Given the description of an element on the screen output the (x, y) to click on. 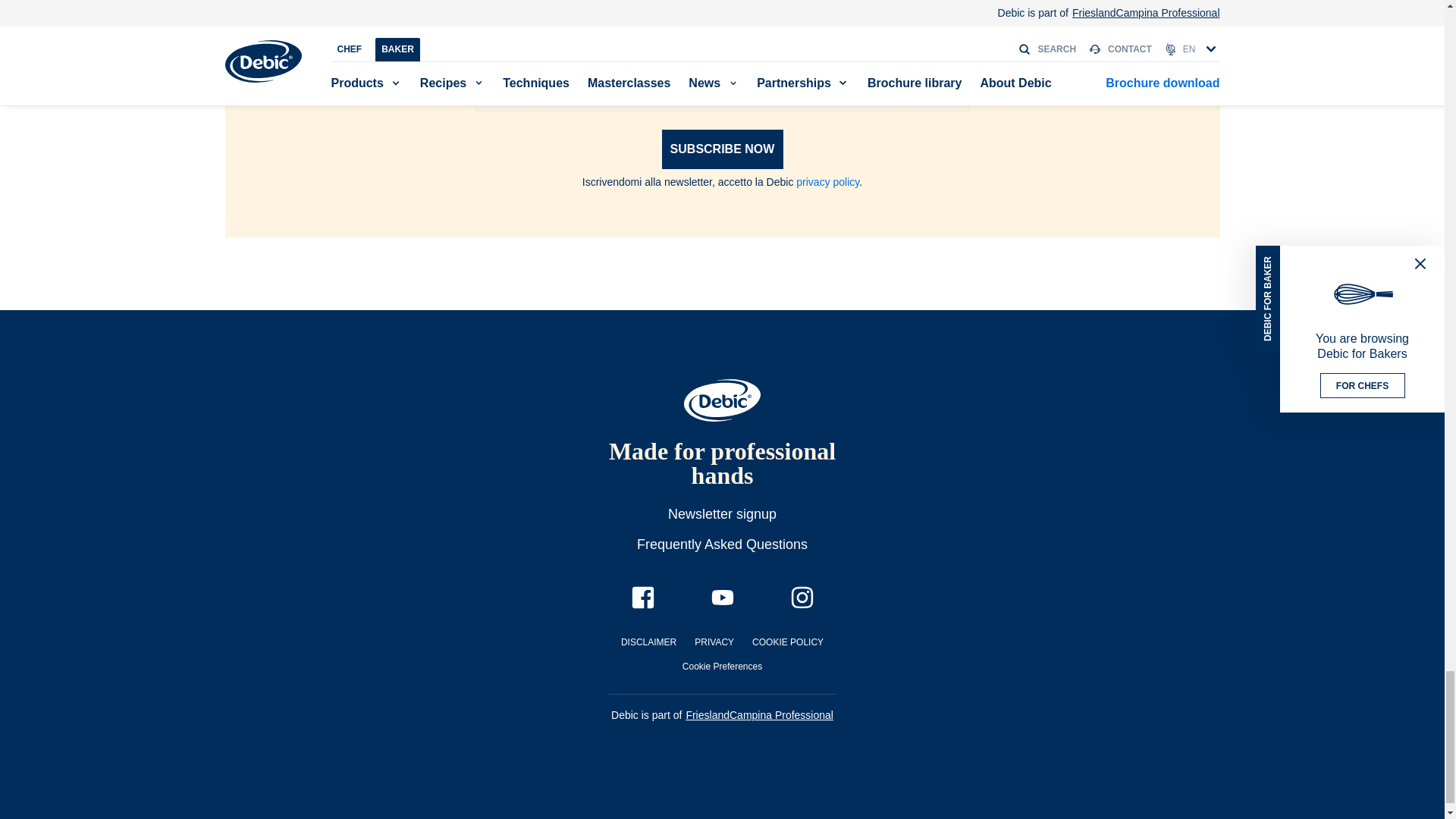
Home (722, 400)
YouTube (722, 597)
Facebook (641, 597)
Instagram (801, 597)
